Given the description of an element on the screen output the (x, y) to click on. 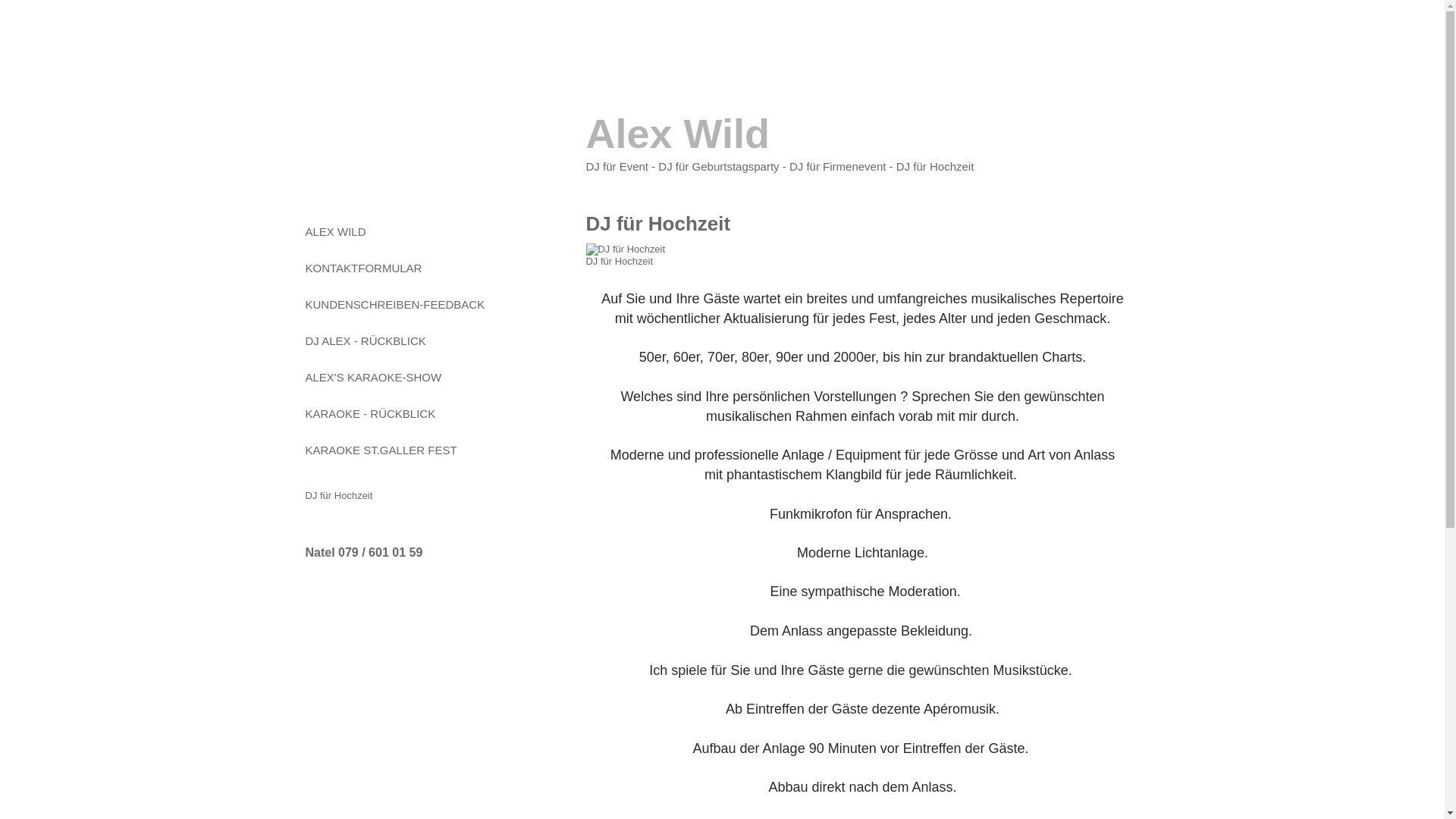
KUNDENSCHREIBEN-FEEDBACK Element type: text (394, 304)
ALEX WILD Element type: text (334, 231)
KONTAKTFORMULAR Element type: text (362, 267)
KARAOKE ST.GALLER FEST Element type: text (380, 449)
ALEX'S KARAOKE-SHOW Element type: text (372, 376)
